Given the description of an element on the screen output the (x, y) to click on. 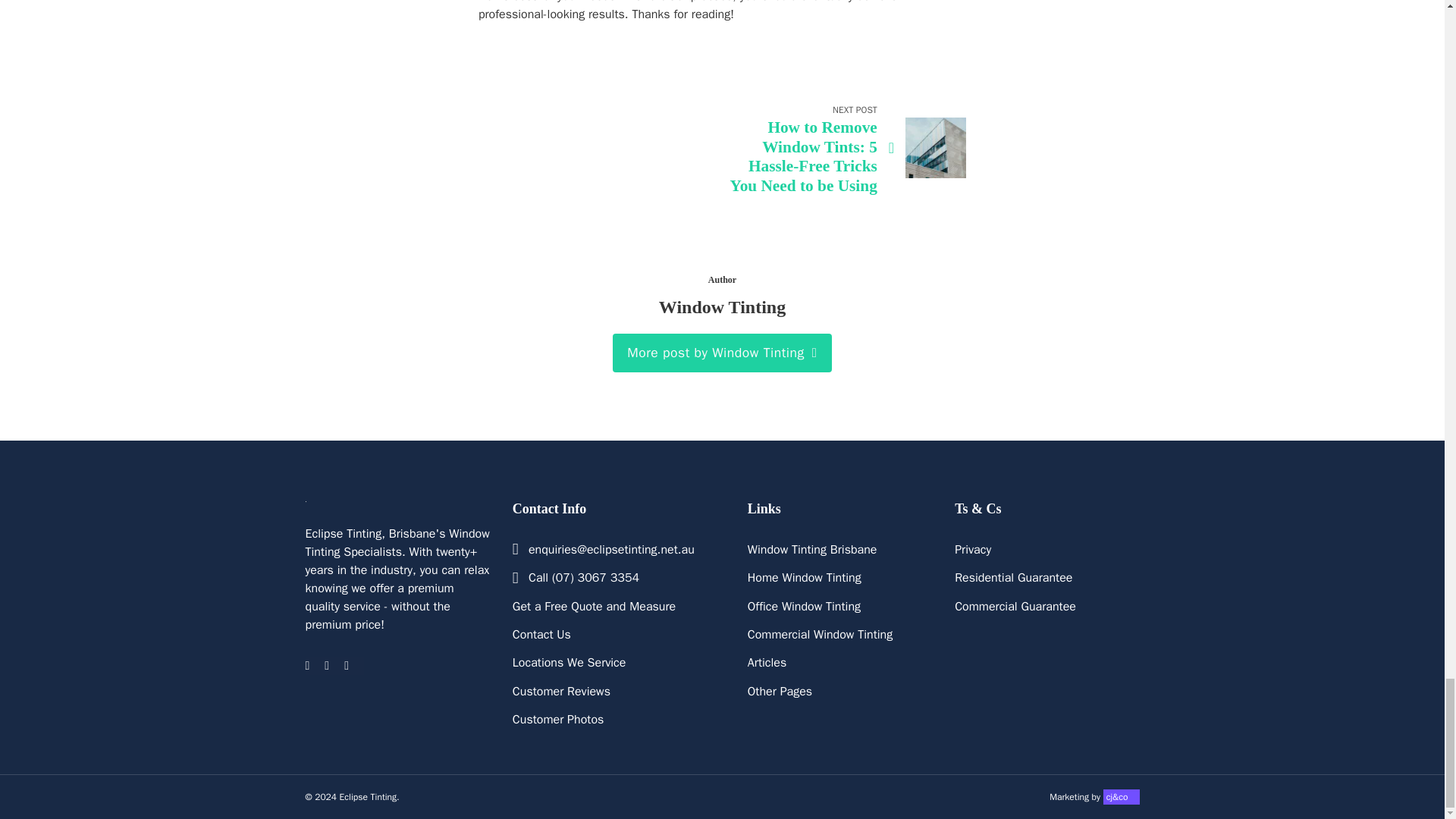
Get a Free Quote and Measure (593, 606)
Locations We Service (569, 662)
Customer Photos (558, 719)
Contact Us (541, 634)
More post by Window Tinting (722, 352)
Customer Reviews (561, 691)
